Given the description of an element on the screen output the (x, y) to click on. 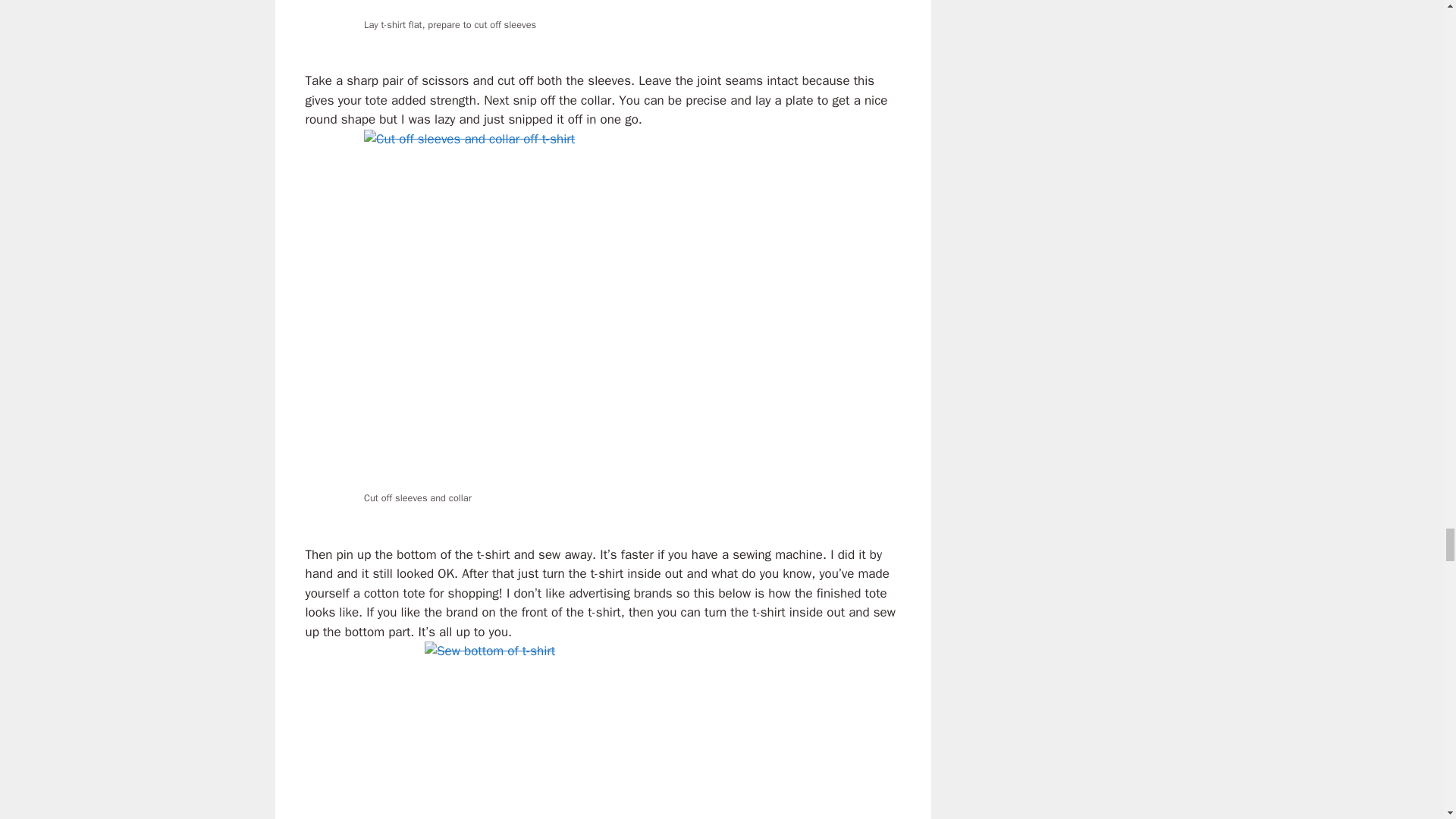
t-shirt recycling (602, 7)
t-shirt recycling (602, 730)
